Given the description of an element on the screen output the (x, y) to click on. 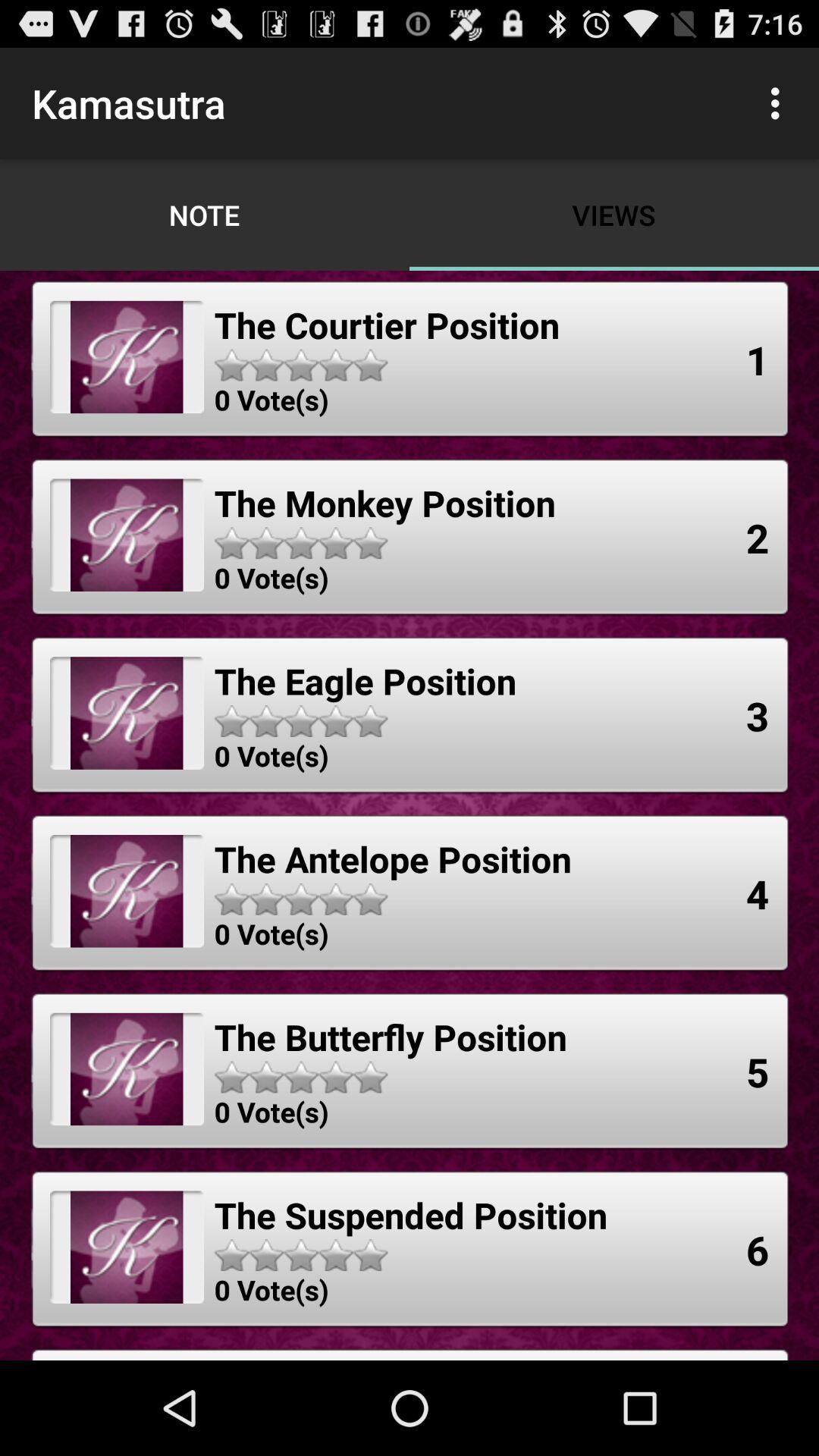
jump until the 3 item (757, 715)
